Given the description of an element on the screen output the (x, y) to click on. 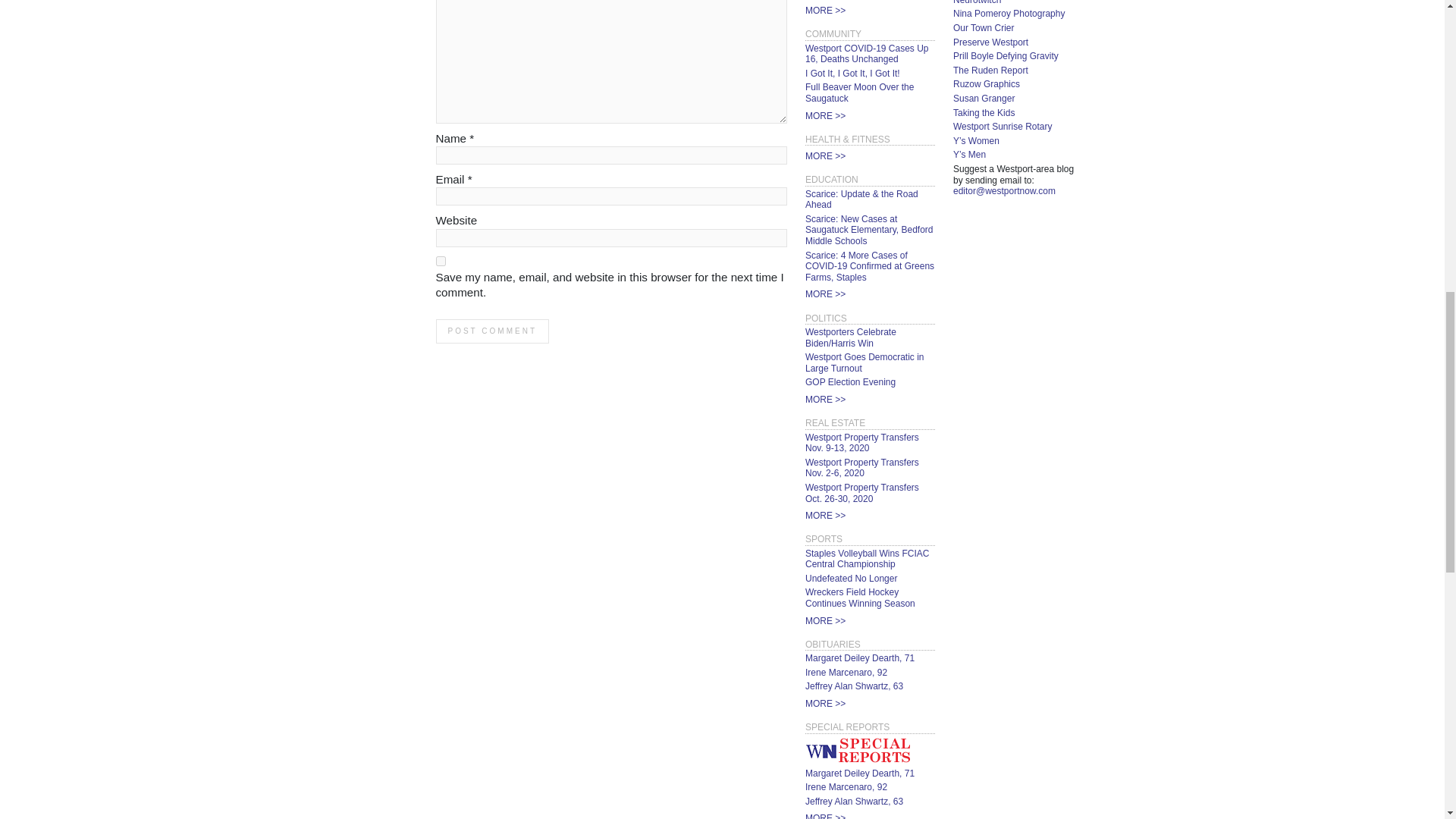
yes (440, 261)
Post Comment (491, 331)
I Got It, I Got It, I Got It! (852, 72)
Westport COVID-19 Cases Up 16, Deaths Unchanged (866, 54)
Post Comment (491, 331)
Full Beaver Moon Over the Saugatuck (859, 92)
